Given the description of an element on the screen output the (x, y) to click on. 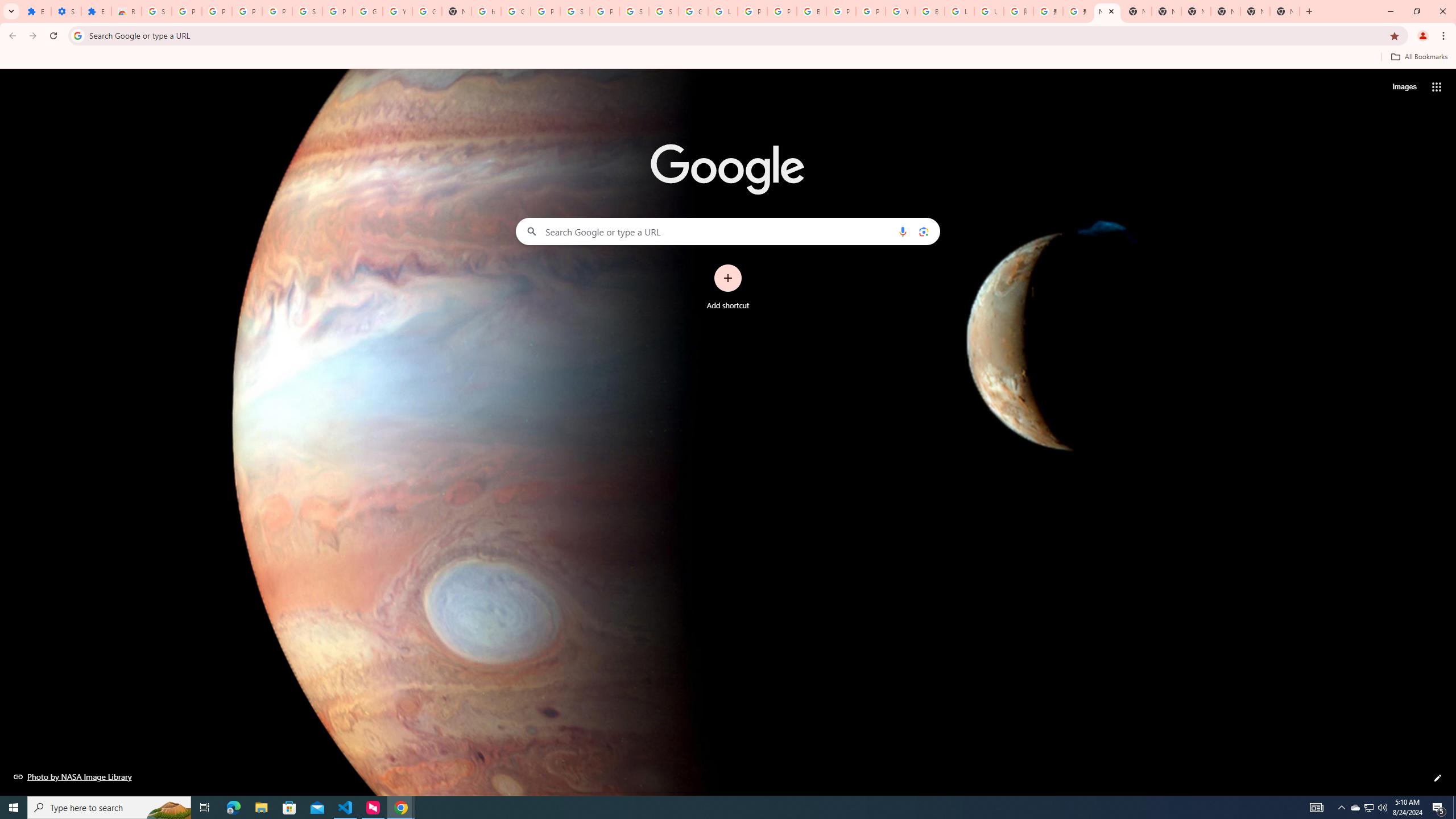
Privacy Help Center - Policies Help (781, 11)
Privacy Help Center - Policies Help (751, 11)
YouTube (397, 11)
